Given the description of an element on the screen output the (x, y) to click on. 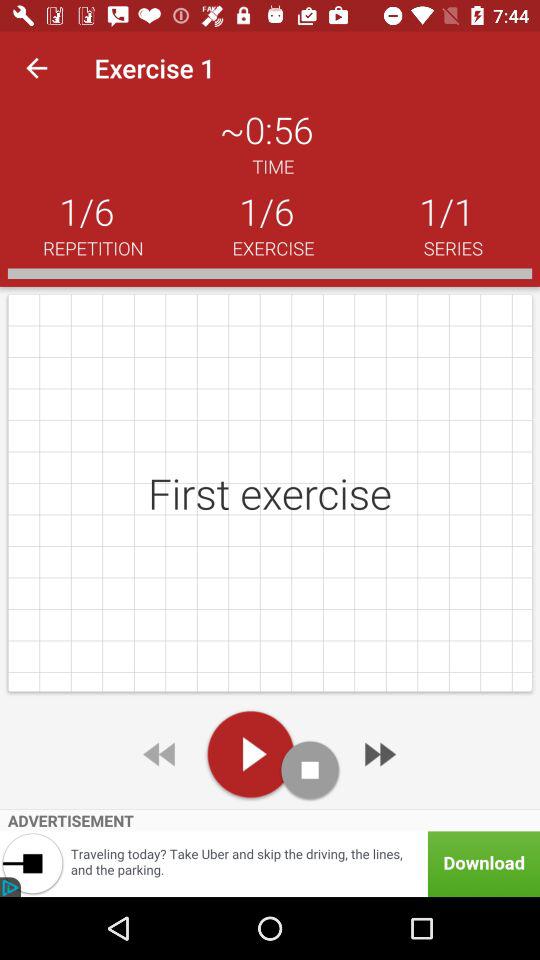
forwar option (378, 754)
